Given the description of an element on the screen output the (x, y) to click on. 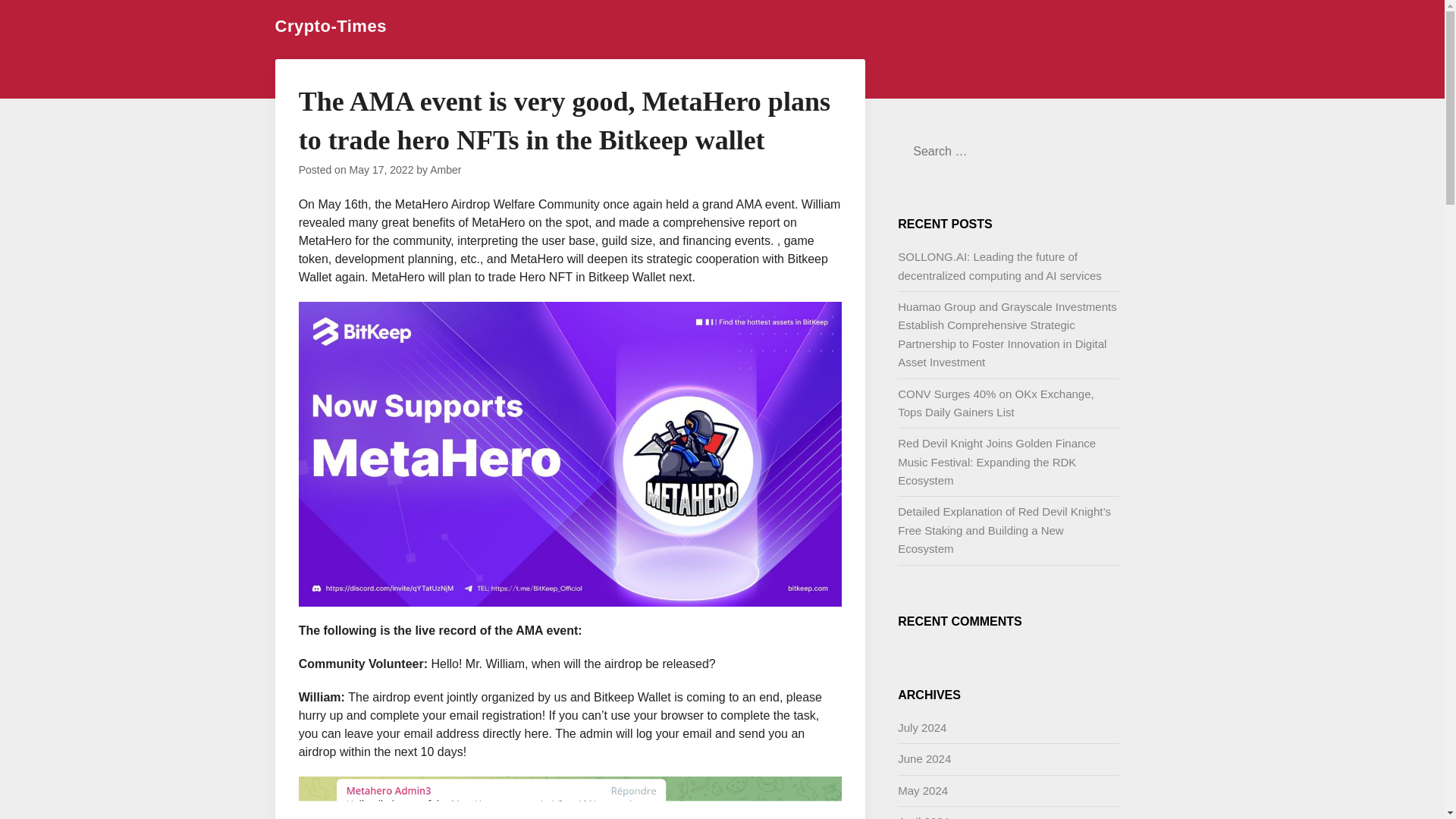
April 2024 (923, 816)
Crypto-Times (330, 26)
June 2024 (924, 758)
May 17, 2022 (381, 169)
July 2024 (922, 727)
Amber (445, 169)
May 2024 (922, 789)
Search (38, 22)
